Given the description of an element on the screen output the (x, y) to click on. 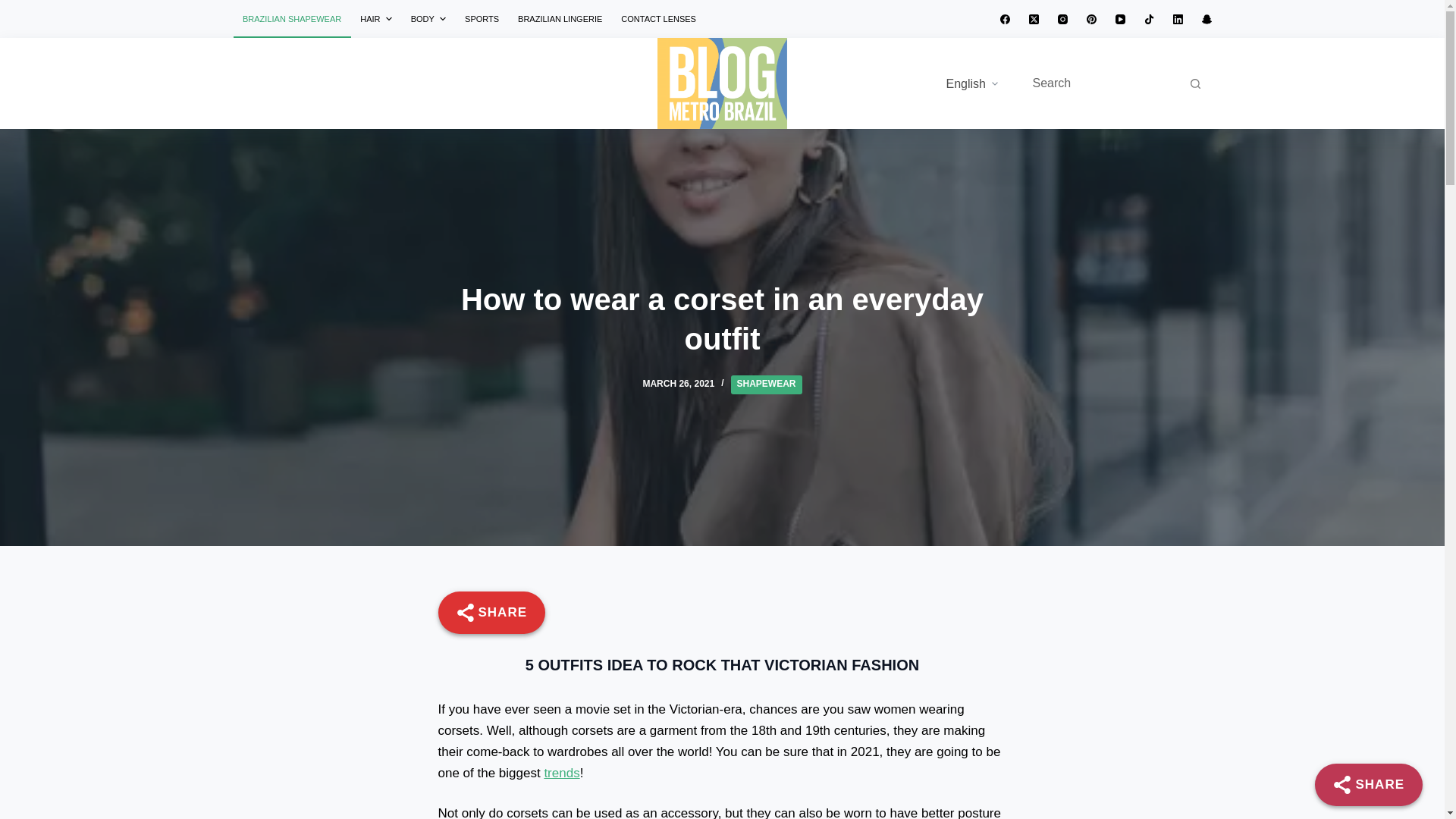
SPORTS (481, 18)
Skip to content (15, 7)
BRAZILIAN LINGERIE (559, 18)
CONTACT LENSES (658, 18)
BRAZILIAN SHAPEWEAR (291, 18)
Search for... (1101, 82)
How to wear a corset in an everyday outfit (722, 318)
BODY (427, 18)
HAIR (375, 18)
